Given the description of an element on the screen output the (x, y) to click on. 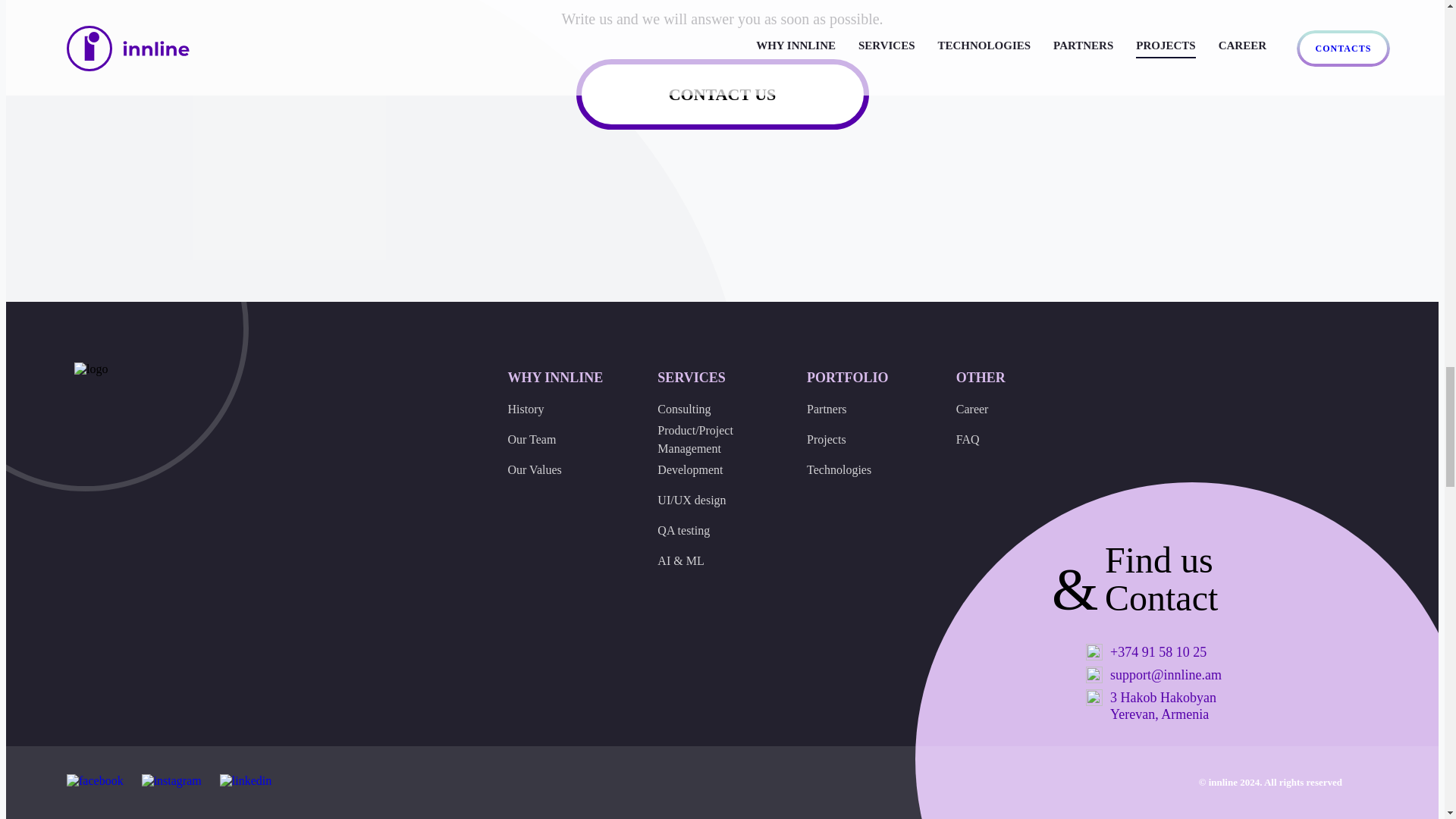
3 Hakob Hakobyan Yerevan, Armenia (1169, 705)
CONTACT US (722, 93)
Development (705, 470)
Consulting (705, 409)
QA testing (705, 530)
History (556, 409)
Our Values (556, 470)
Our Team (556, 439)
